Given the description of an element on the screen output the (x, y) to click on. 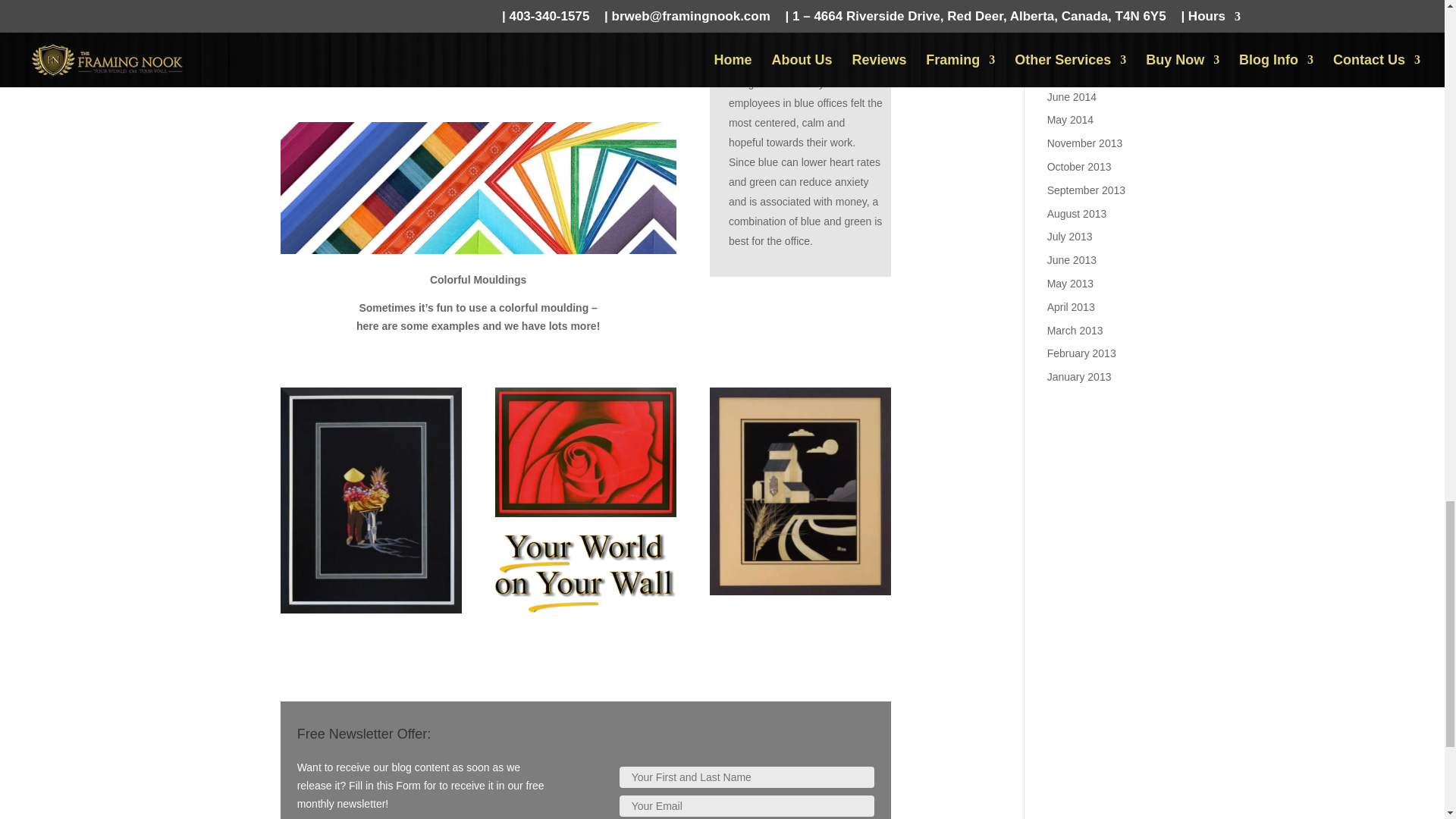
Your World-GreyGoldDropShadow (586, 572)
colorfulframes (479, 187)
